Given the description of an element on the screen output the (x, y) to click on. 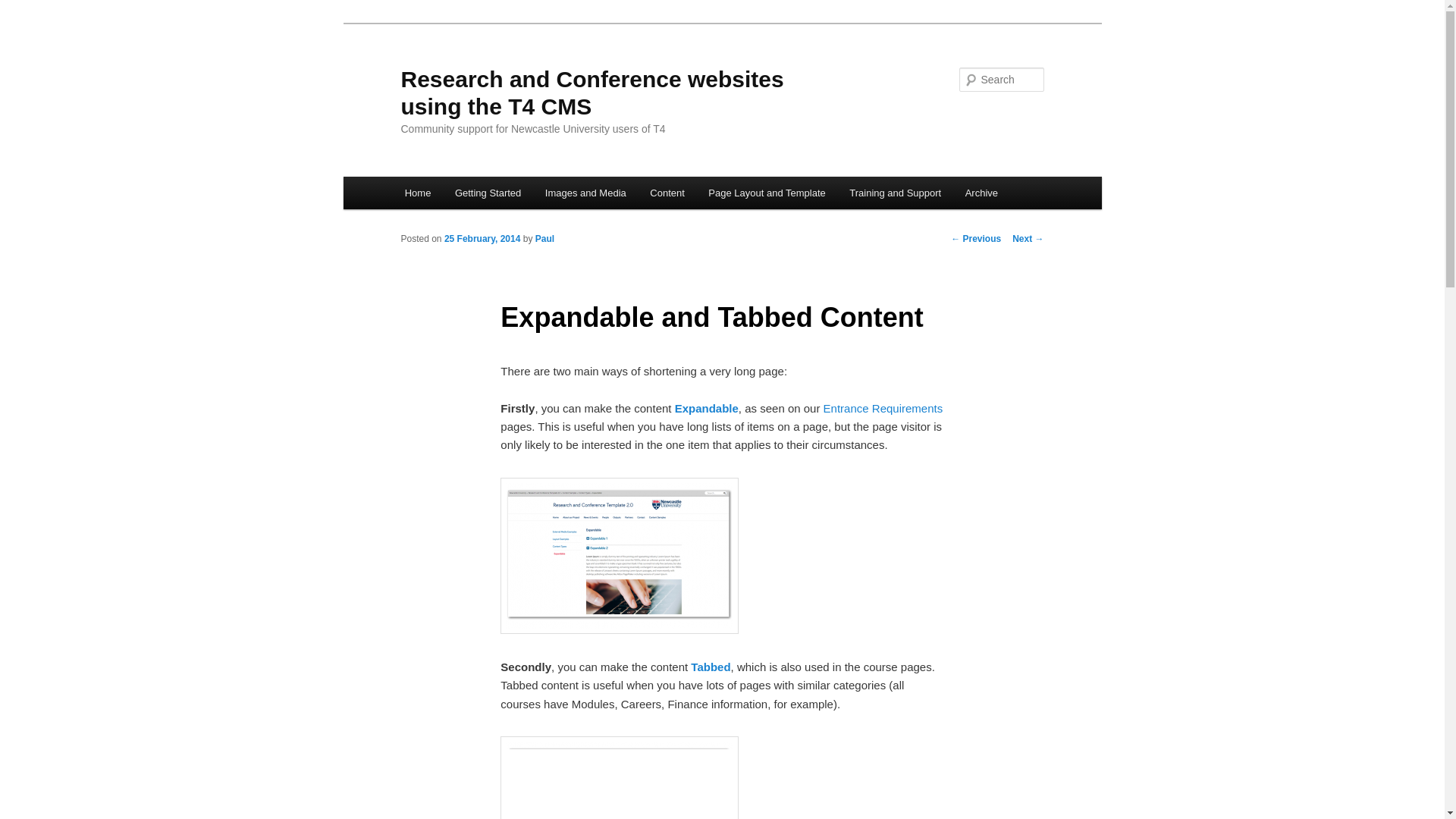
Expandable (706, 408)
Training and Support (895, 192)
Paul (544, 238)
Content (668, 192)
Archive (981, 192)
2:26 pm (482, 238)
Search (24, 8)
View all posts by Paul (544, 238)
Page Layout and Template (767, 192)
